Given the description of an element on the screen output the (x, y) to click on. 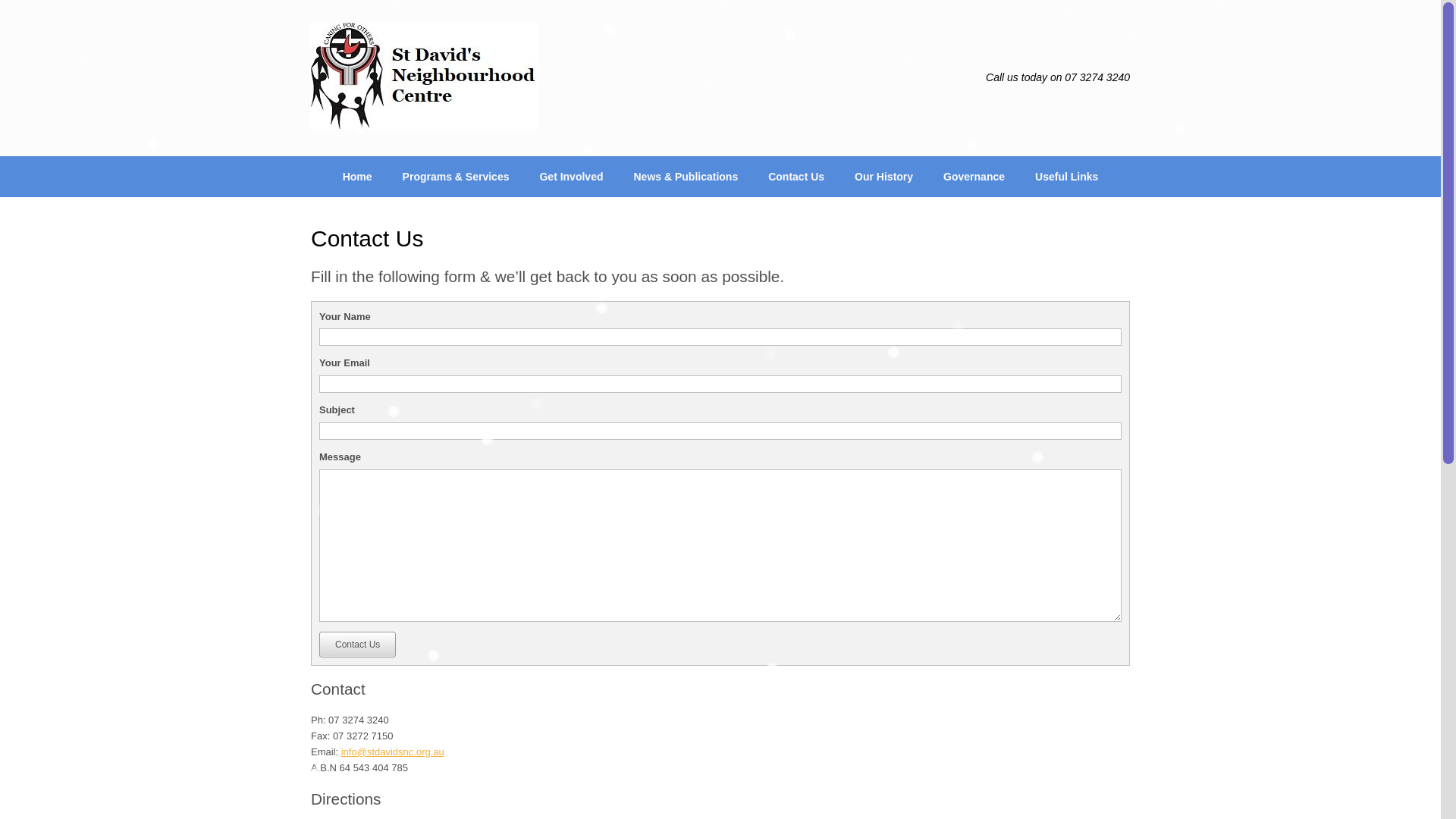
News & Publications Element type: text (685, 176)
Get Involved Element type: text (571, 176)
Contact Us Element type: text (796, 176)
Governance Element type: text (973, 176)
Programs & Services Element type: text (455, 176)
Our History Element type: text (883, 176)
Home Element type: text (357, 176)
info@stdavidsnc.org.au Element type: text (392, 751)
Contact Us Element type: text (357, 644)
Useful Links Element type: text (1066, 176)
